Given the description of an element on the screen output the (x, y) to click on. 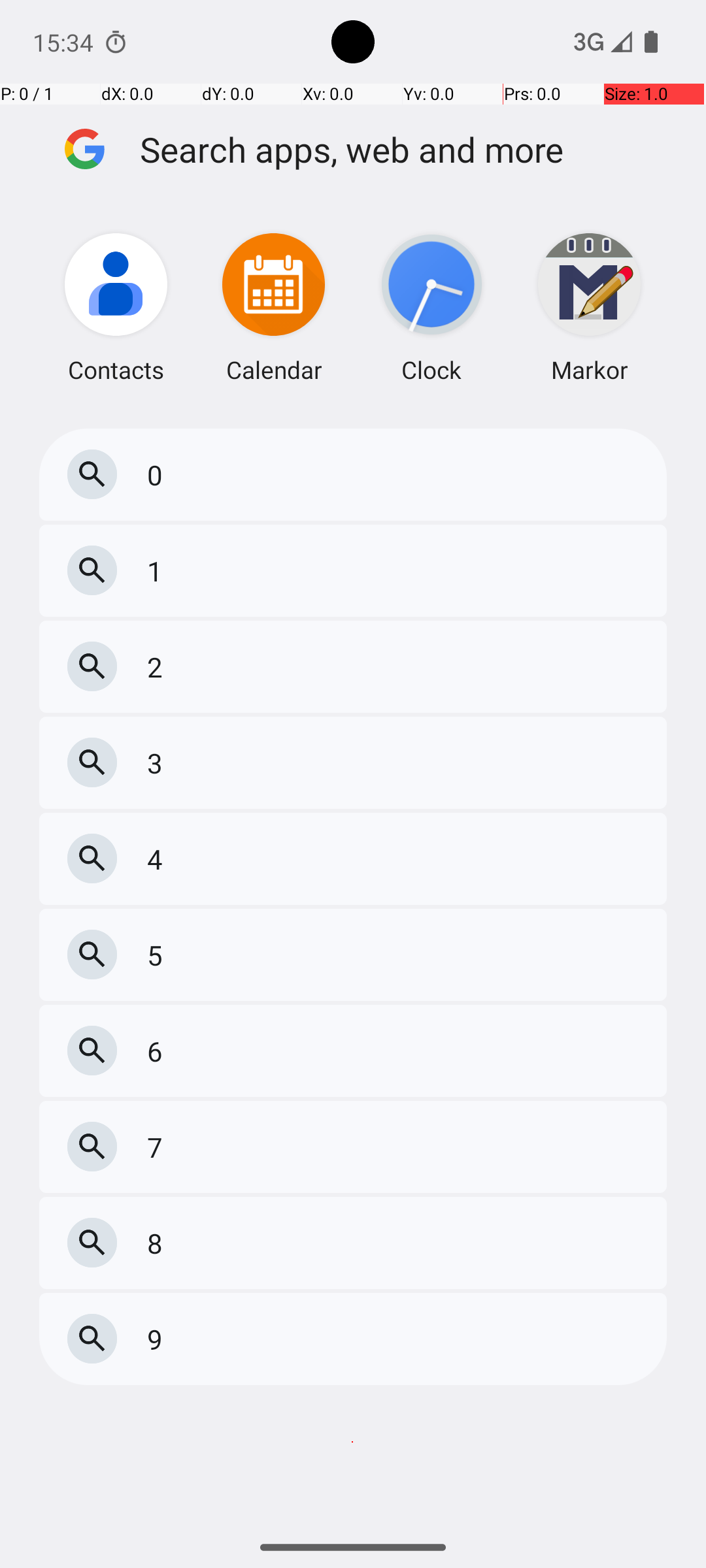
Search apps, web and more Element type: android.widget.EditText (403, 148)
